Given the description of an element on the screen output the (x, y) to click on. 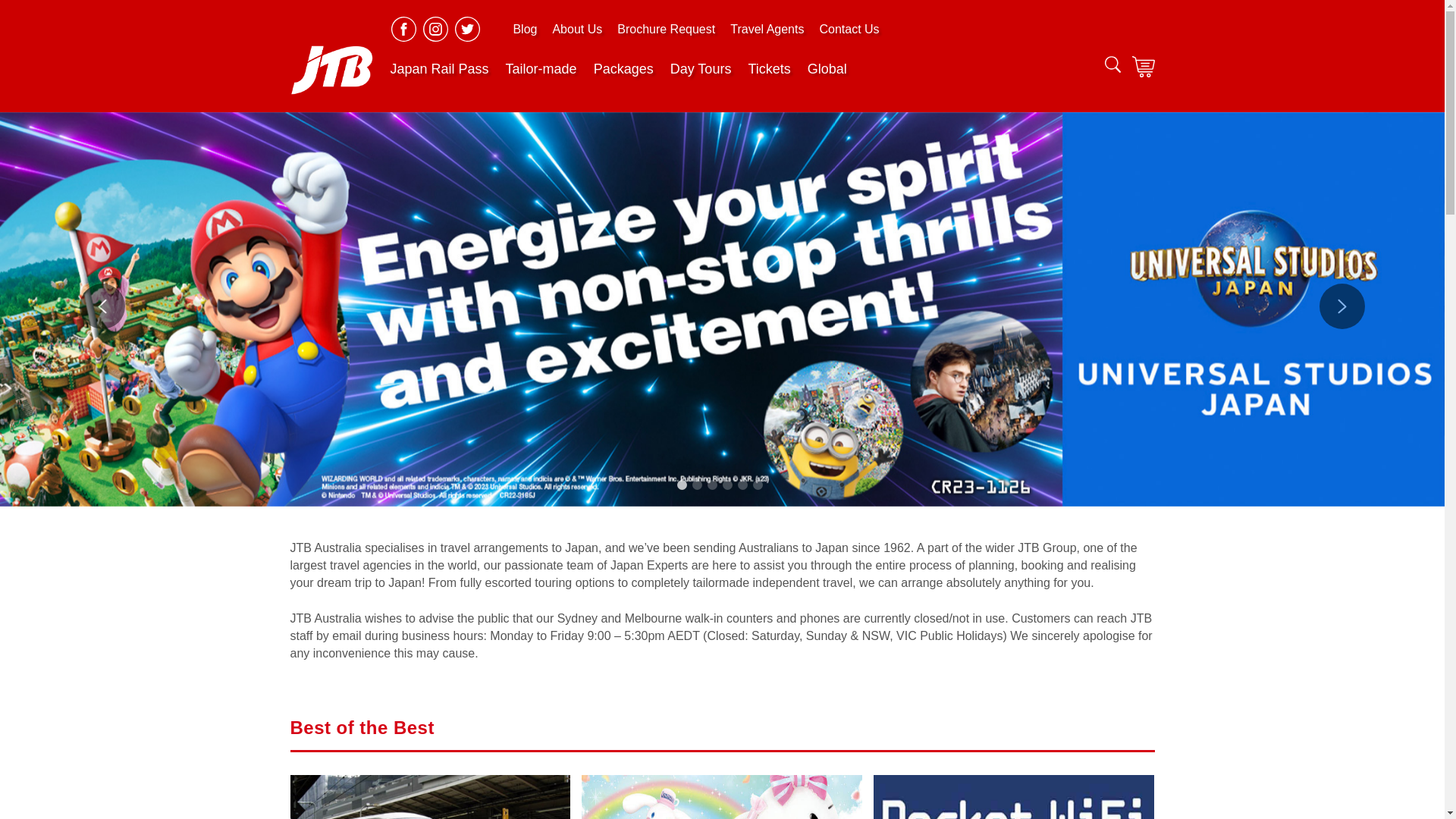
1 Element type: text (683, 487)
Global Element type: text (827, 68)
Japan Rail Pass Element type: text (438, 68)
Brochure Request Element type: text (666, 28)
Home Element type: text (331, 69)
5 Element type: text (744, 487)
About Us Element type: text (577, 28)
Next Element type: text (1342, 306)
4 Element type: text (729, 487)
Contact Us Element type: text (848, 28)
Tickets Element type: text (768, 68)
Tailor-made Element type: text (541, 68)
Previous Element type: text (102, 306)
3 Element type: text (713, 487)
Day Tours Element type: text (700, 68)
2 Element type: text (698, 487)
Blog Element type: text (524, 28)
Travel Agents Element type: text (766, 28)
6 Element type: text (759, 487)
Packages Element type: text (623, 68)
